Given the description of an element on the screen output the (x, y) to click on. 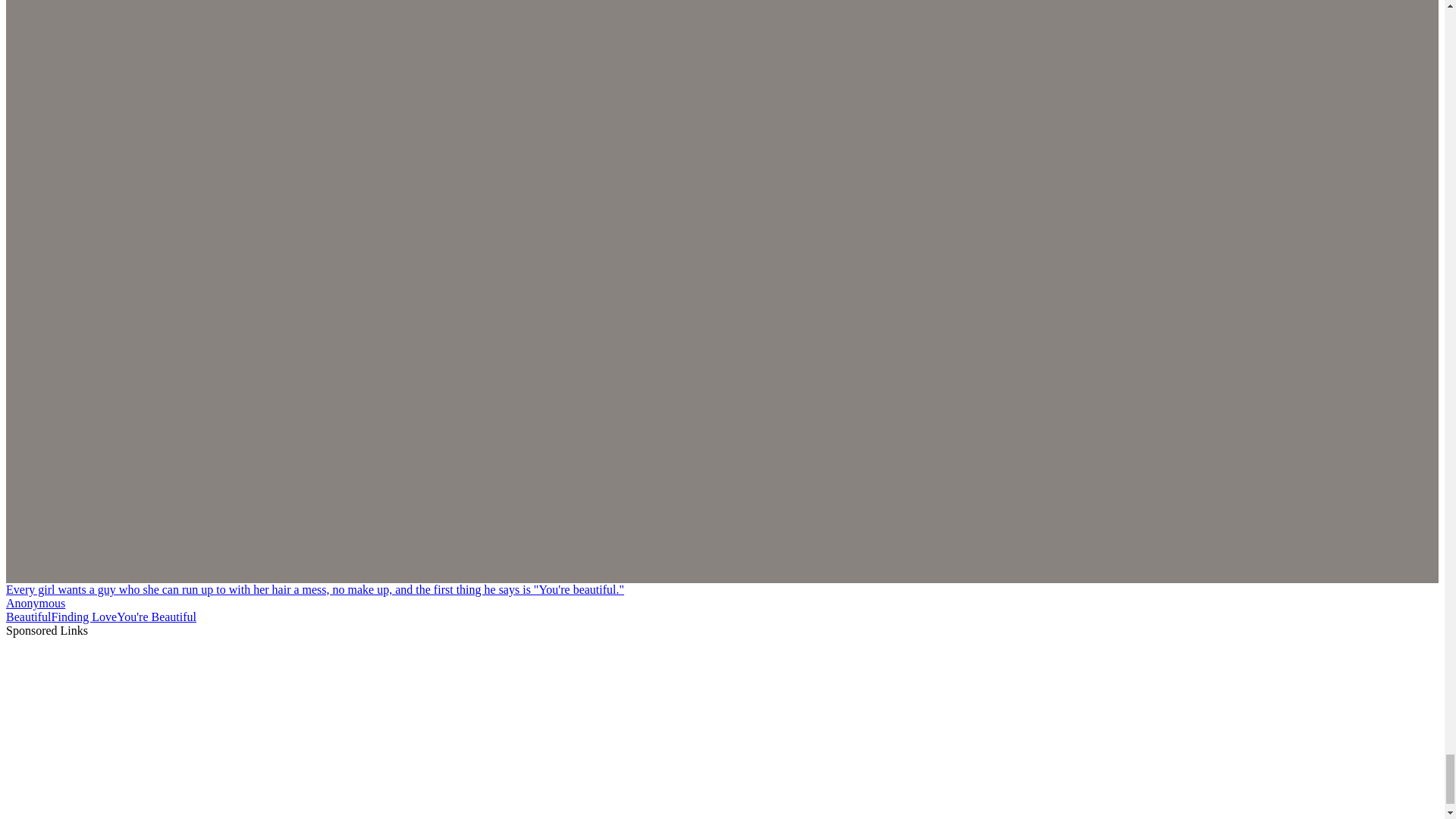
see quote (314, 589)
